Given the description of an element on the screen output the (x, y) to click on. 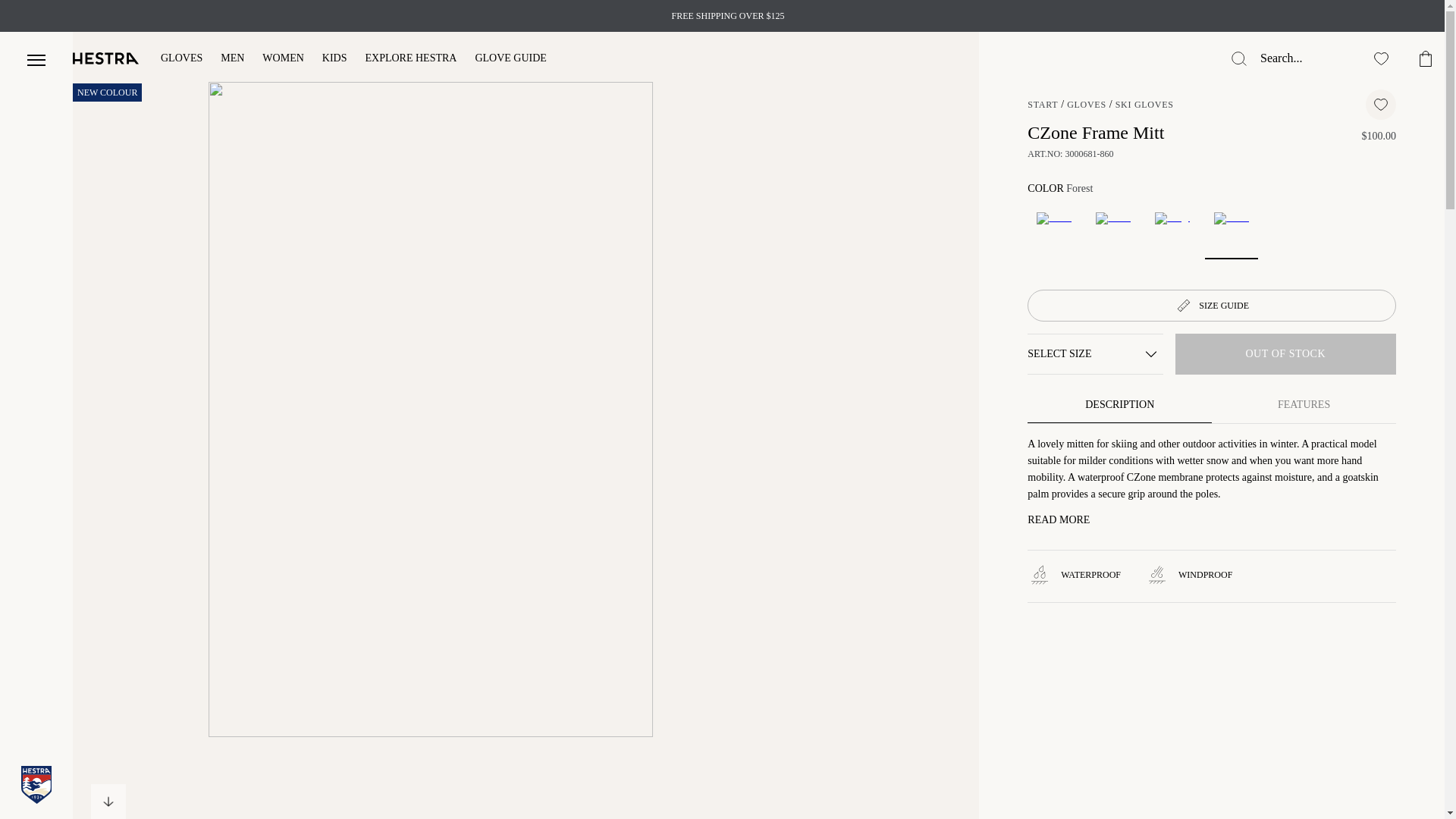
GLOVE GUIDE (510, 58)
START (1042, 104)
READ MORE (1058, 520)
Image displaying the Hestra logotype (105, 58)
MEN (232, 58)
OUT OF STOCK (1285, 353)
Image displaying the Hestra logotype (105, 57)
Search... (1302, 57)
SIZE GUIDE (1211, 305)
FEATURES (1303, 404)
